Given the description of an element on the screen output the (x, y) to click on. 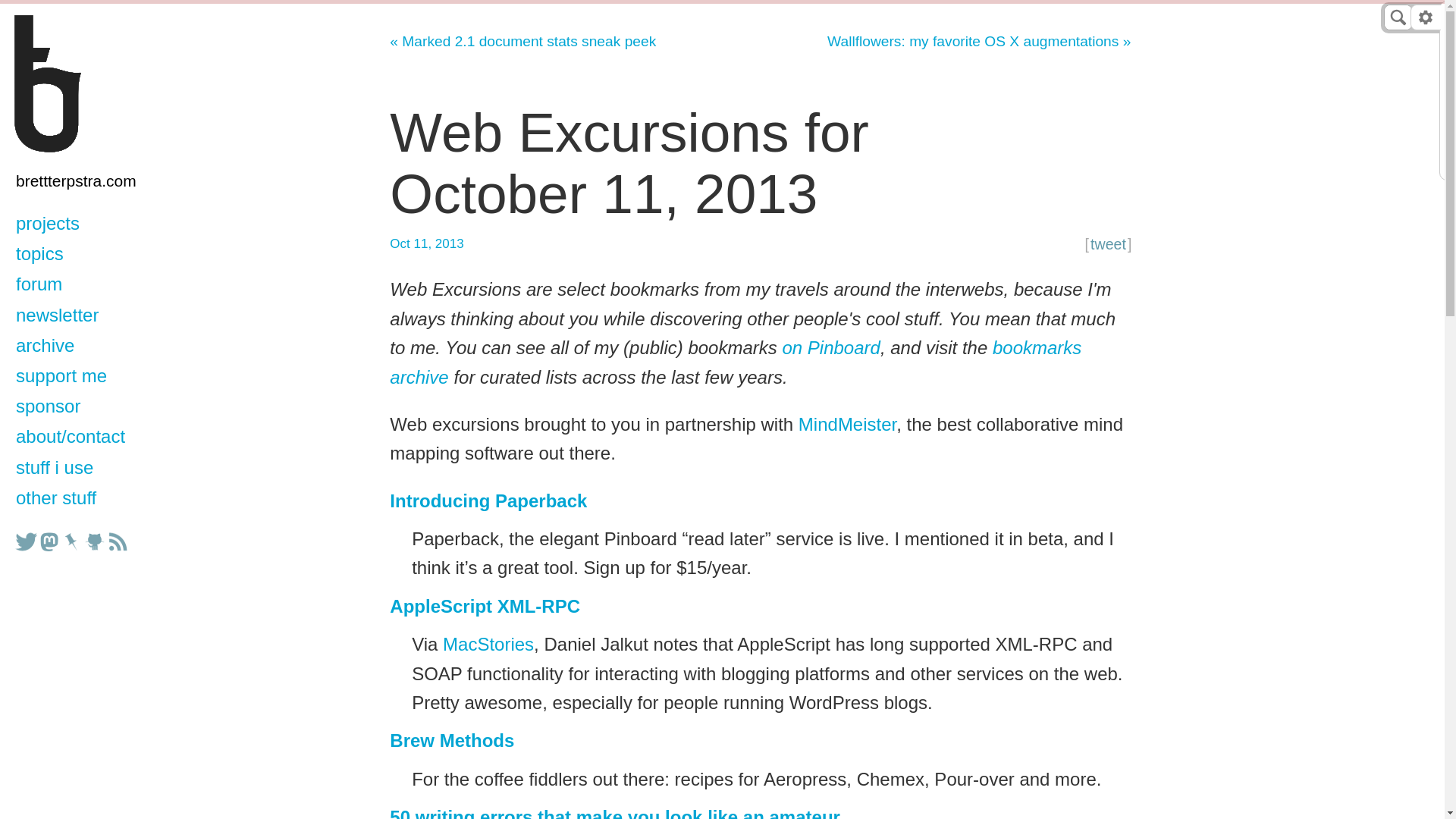
support me (90, 376)
projects (90, 224)
50 writing errors that make you look like an amateur (615, 812)
topics (90, 254)
brettterpstra.com (90, 181)
ttscoff on github (94, 541)
bookmarks archive (735, 361)
a (90, 84)
newsletter (90, 316)
sponsor (90, 407)
Introducing Paperback (488, 500)
tweet (1107, 243)
The Lab at BrettTerpstra.com (90, 84)
subscribe (117, 541)
